Given the description of an element on the screen output the (x, y) to click on. 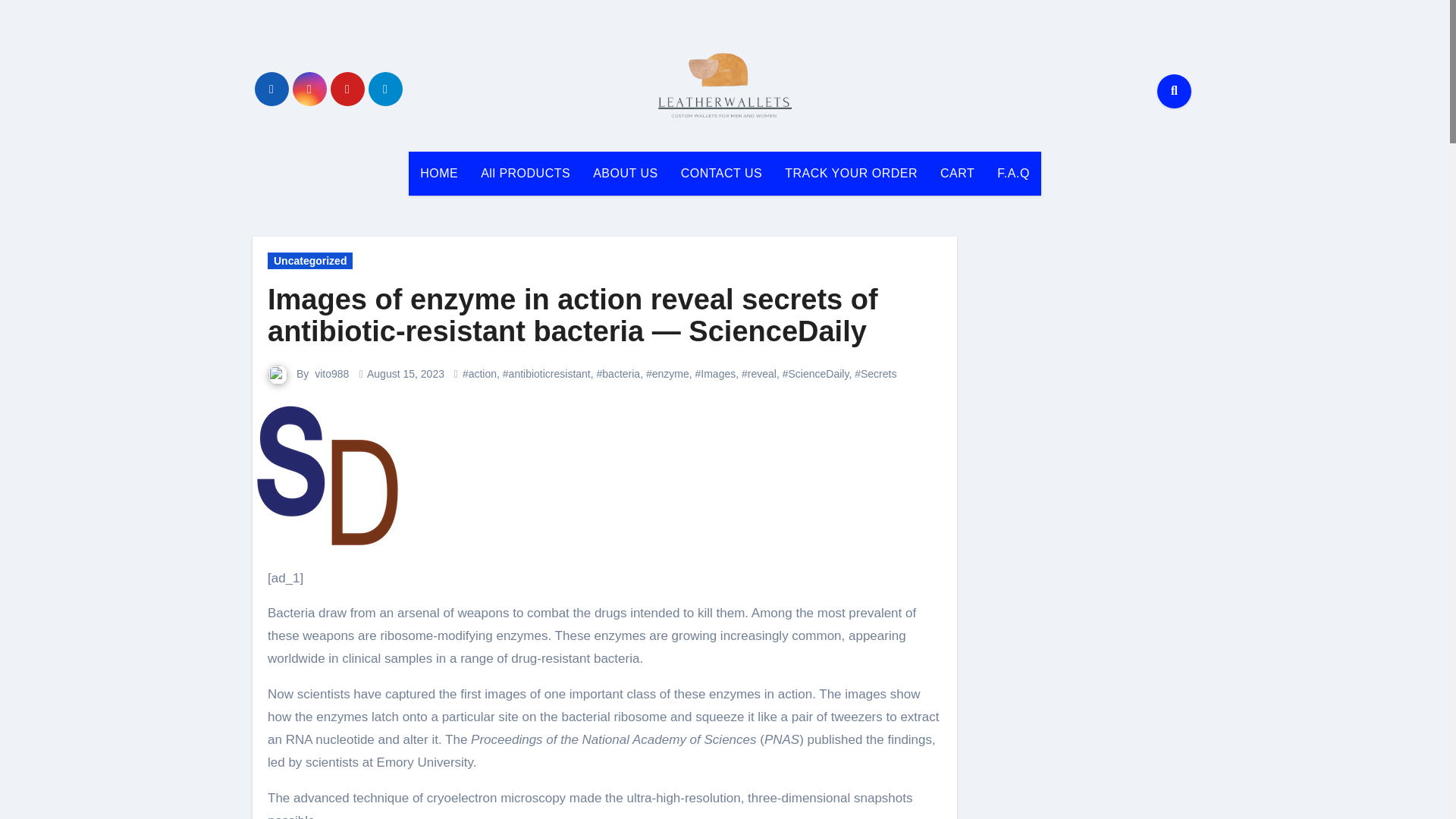
CART (956, 173)
F.A.Q (1013, 173)
Uncategorized (309, 260)
HOME (438, 173)
CONTACT US (721, 173)
ABOUT US (624, 173)
ABOUT US (624, 173)
TRACK YOUR ORDER (850, 173)
F.A.Q (1013, 173)
CONTACT US (721, 173)
HOME (438, 173)
August 15, 2023 (405, 373)
All PRODUCTS (524, 173)
vito988 (331, 373)
CART (956, 173)
